Given the description of an element on the screen output the (x, y) to click on. 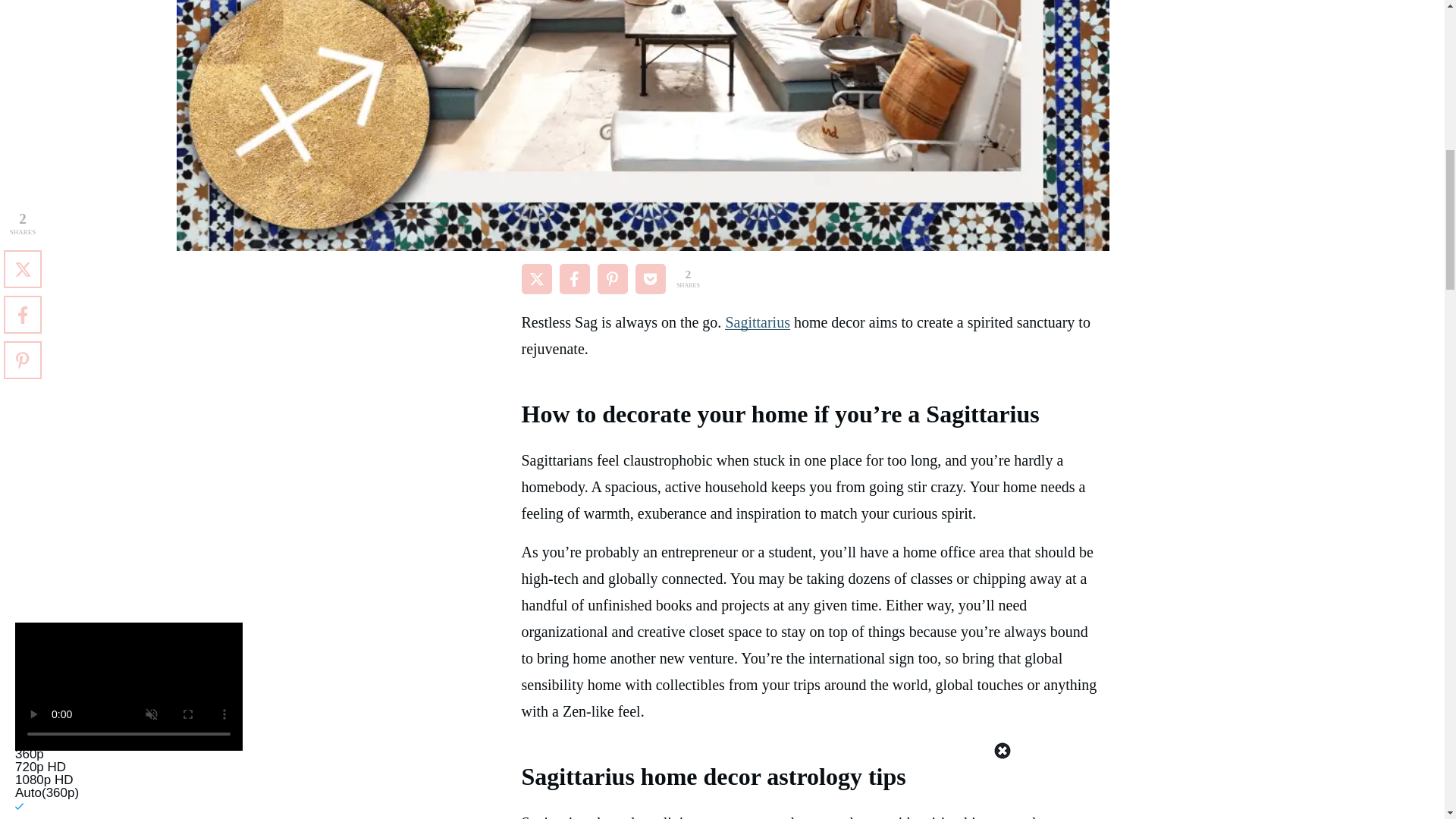
Scroll back to top (1406, 720)
